Given the description of an element on the screen output the (x, y) to click on. 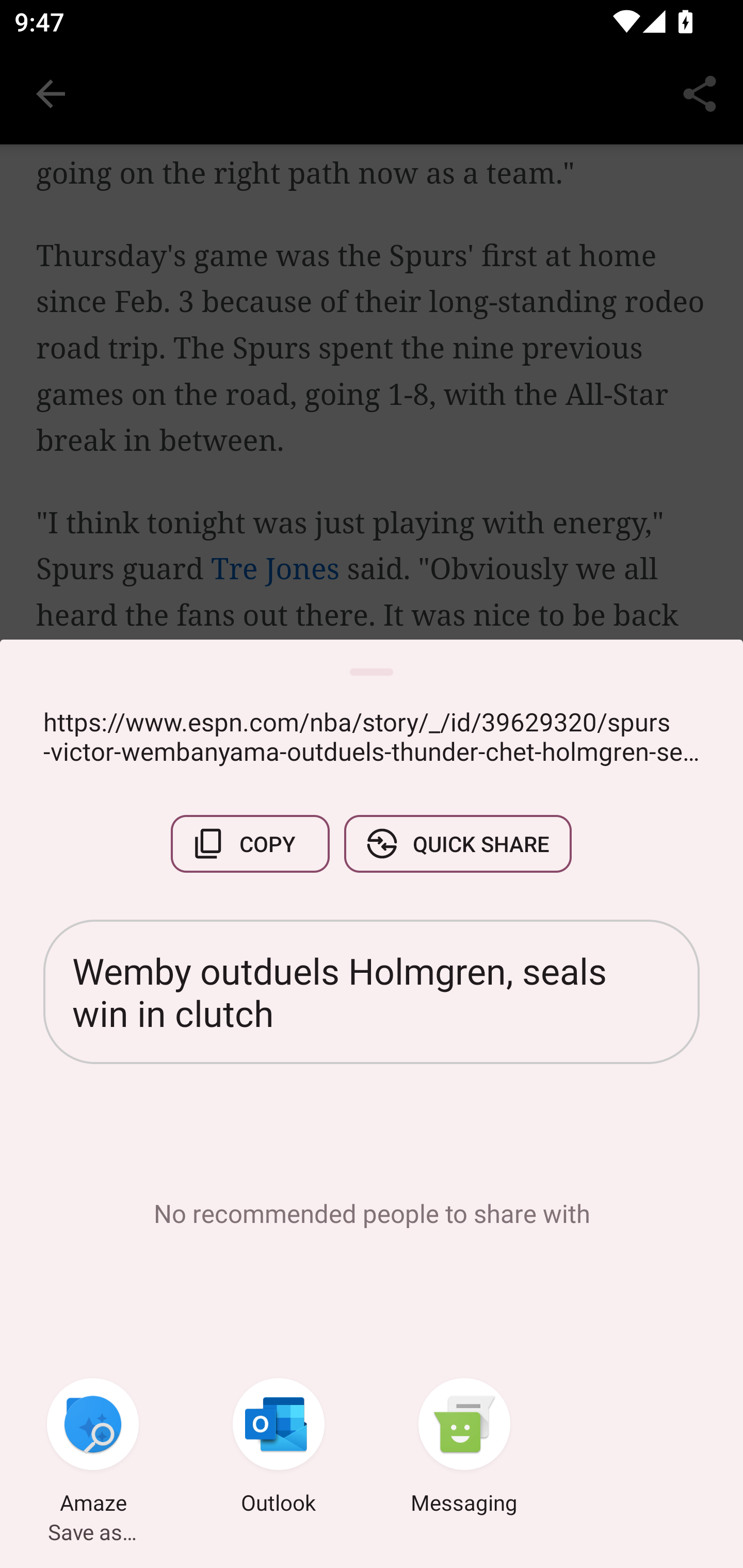
COPY (249, 844)
QUICK SHARE (457, 844)
Amaze Save as… (92, 1448)
Outlook (278, 1448)
Messaging (464, 1448)
